Given the description of an element on the screen output the (x, y) to click on. 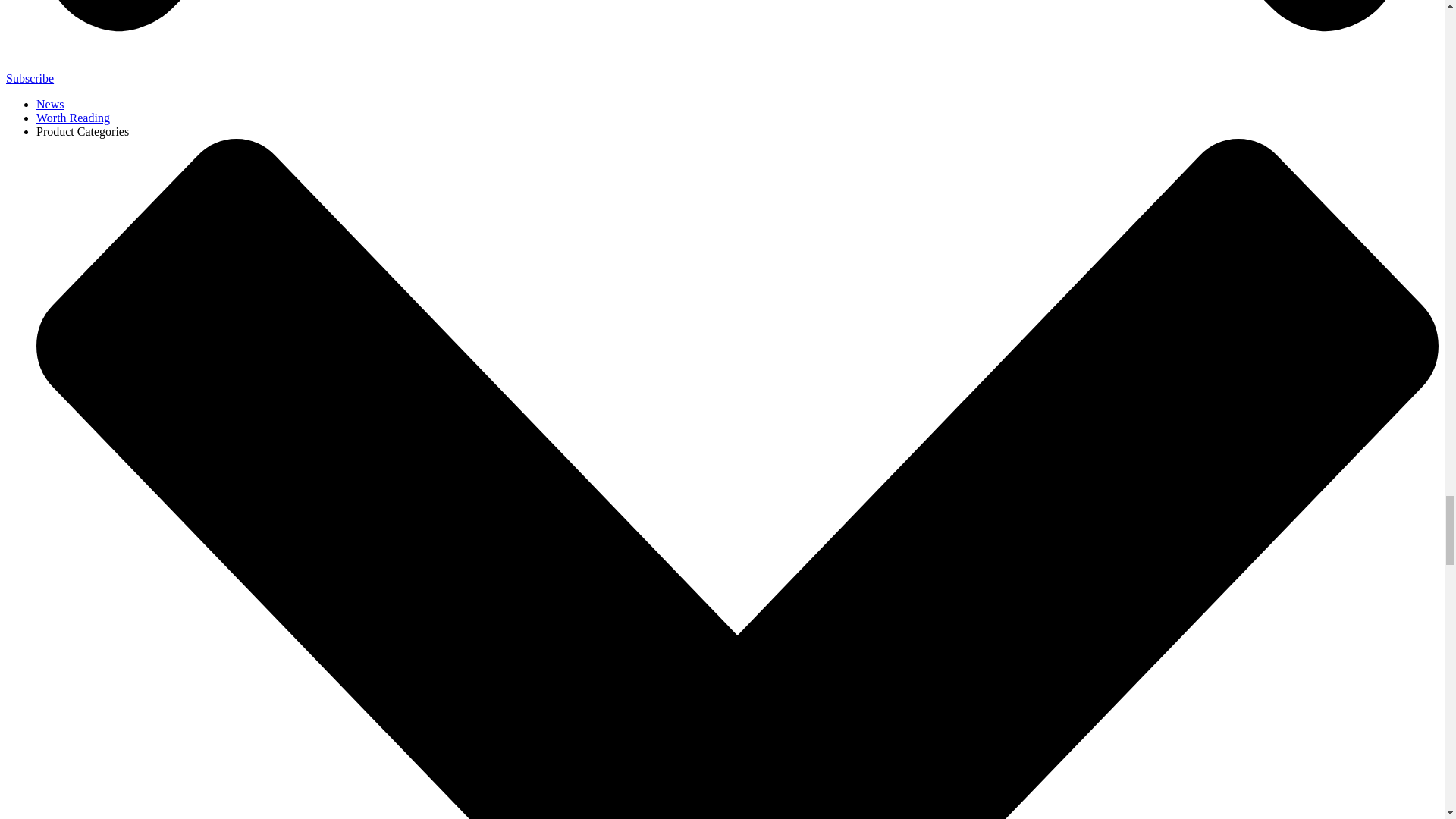
News (50, 103)
Product Categories (82, 131)
Subscribe (29, 78)
Worth Reading (73, 117)
